Given the description of an element on the screen output the (x, y) to click on. 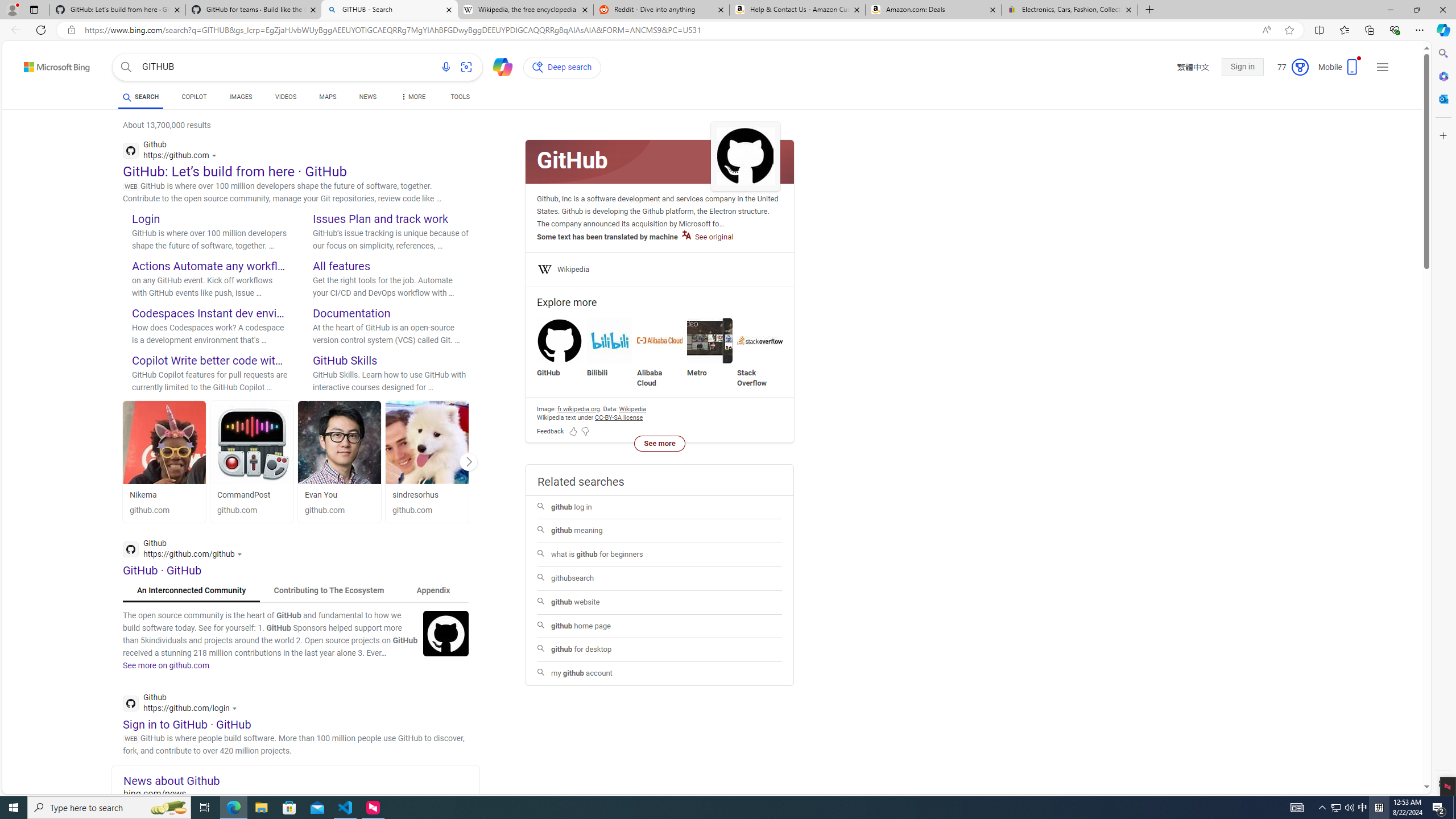
Explore more GitHub (559, 347)
my github account (659, 673)
githubsearch (659, 578)
Settings and quick links (1383, 67)
Alibaba Cloud (659, 352)
See more images of GitHub (745, 156)
Search more (1400, 753)
TOOLS (460, 98)
MORE (412, 98)
Search button (126, 66)
Feedback Dislike (584, 430)
Login (146, 218)
